Given the description of an element on the screen output the (x, y) to click on. 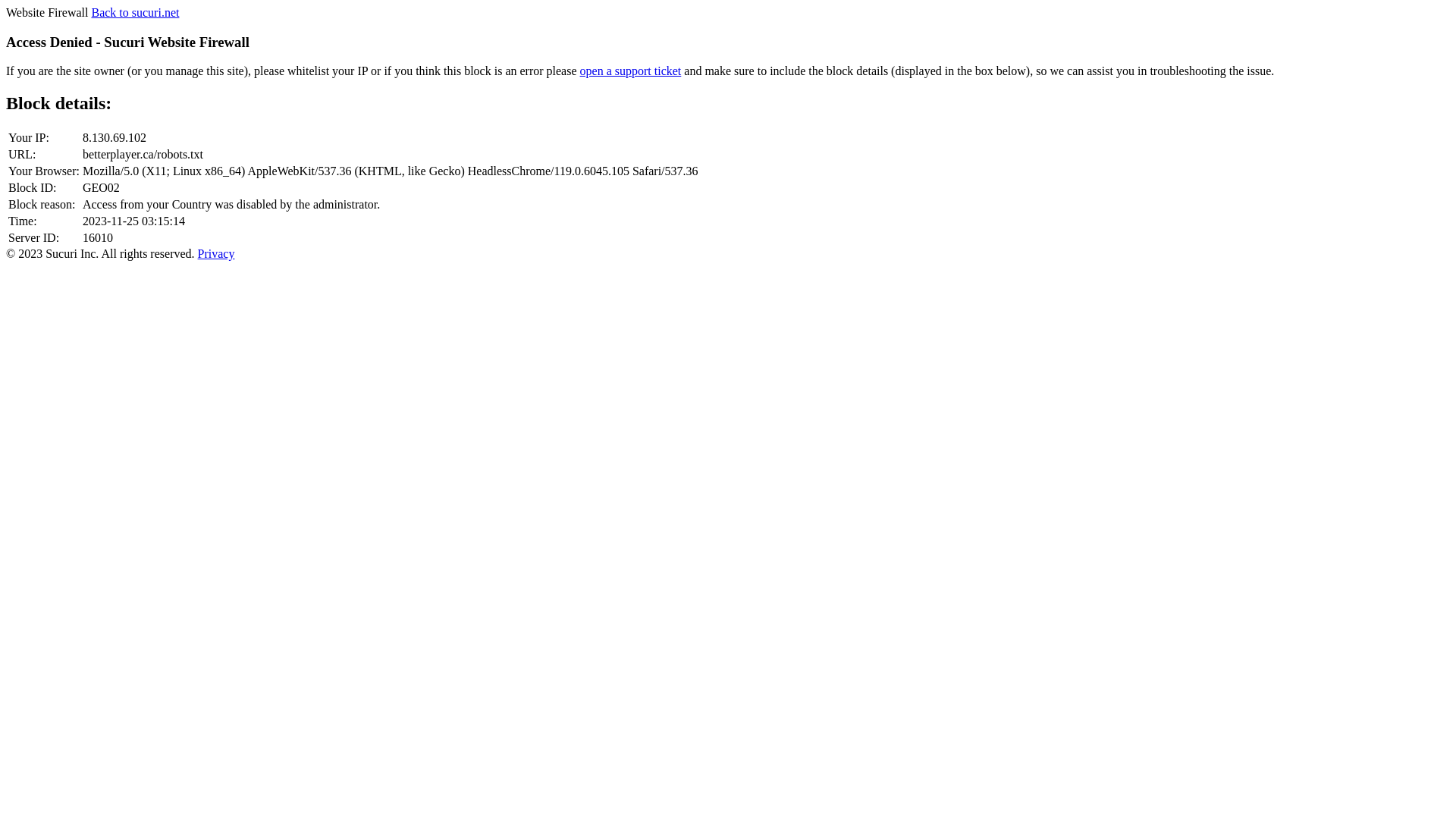
Back to sucuri.net Element type: text (134, 12)
open a support ticket Element type: text (630, 70)
Privacy Element type: text (216, 253)
